Given the description of an element on the screen output the (x, y) to click on. 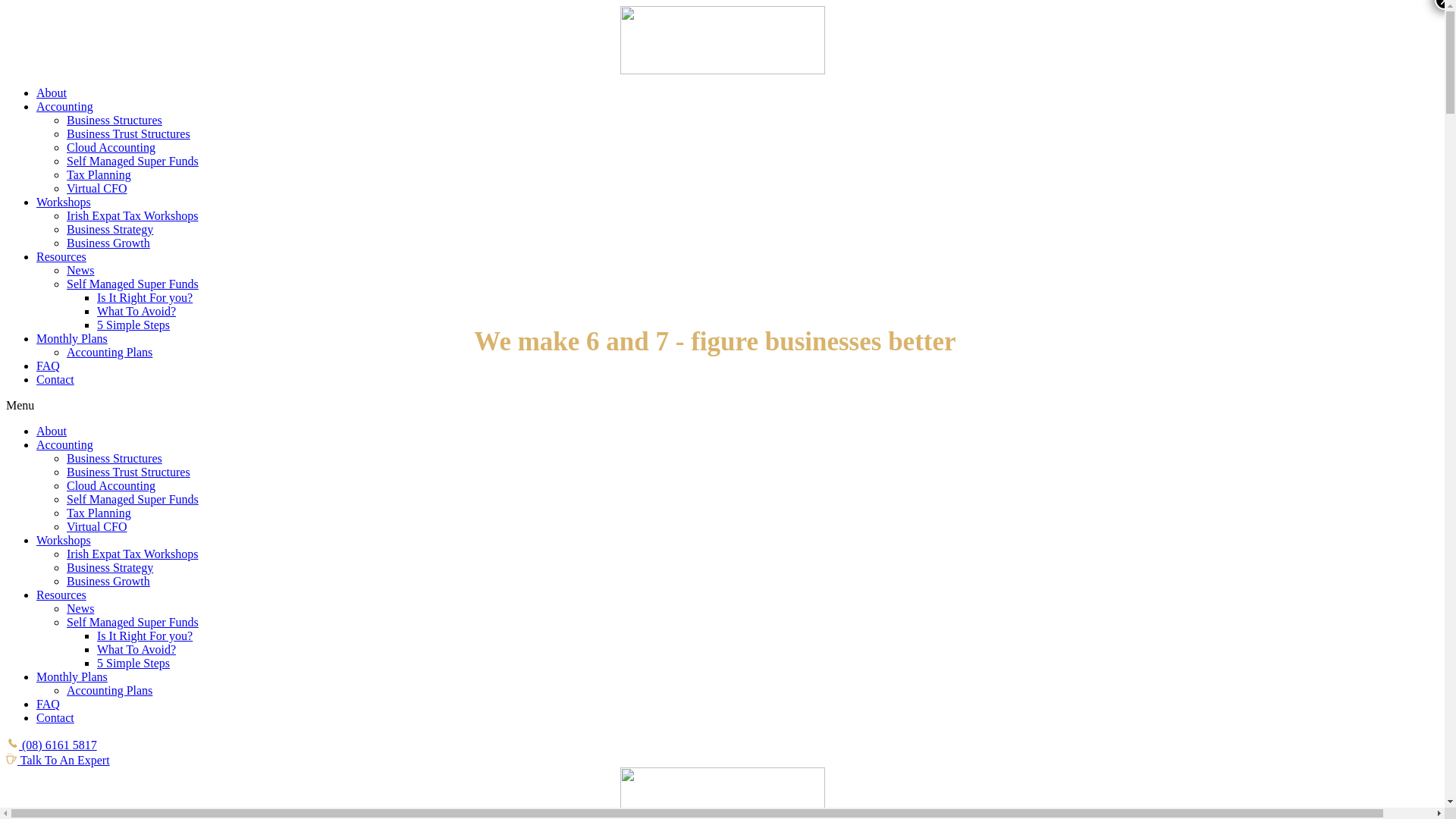
Business Trust Structures Element type: text (128, 471)
Contact Element type: text (55, 717)
Is It Right For you? Element type: text (144, 635)
Business Growth Element type: text (108, 242)
Business Growth Element type: text (108, 580)
What To Avoid? Element type: text (136, 310)
Self Managed Super Funds Element type: text (132, 160)
Monthly Plans Element type: text (71, 676)
Is It Right For you? Element type: text (144, 297)
Tax Planning Element type: text (98, 512)
Virtual CFO Element type: text (96, 526)
Workshops Element type: text (63, 201)
About Element type: text (51, 92)
Business Structures Element type: text (114, 119)
Accounting Plans Element type: text (109, 690)
Self Managed Super Funds Element type: text (132, 283)
Resources Element type: text (61, 256)
Irish Expat Tax Workshops Element type: text (131, 215)
News Element type: text (80, 269)
Self Managed Super Funds Element type: text (132, 498)
FAQ Element type: text (47, 703)
Cloud Accounting Element type: text (110, 147)
Virtual CFO Element type: text (96, 188)
Resources Element type: text (61, 594)
Workshops Element type: text (63, 539)
Accounting Element type: text (64, 106)
Talk To An Expert Element type: text (57, 759)
Tax Planning Element type: text (98, 174)
Business Strategy Element type: text (109, 228)
Monthly Plans Element type: text (71, 338)
Business Structures Element type: text (114, 457)
Irish Expat Tax Workshops Element type: text (131, 553)
Business Strategy Element type: text (109, 567)
Business Trust Structures Element type: text (128, 133)
5 Simple Steps Element type: text (133, 662)
News Element type: text (80, 608)
About Element type: text (51, 430)
Accounting Plans Element type: text (109, 351)
Contact Element type: text (55, 379)
Cloud Accounting Element type: text (110, 485)
(08) 6161 5817 Element type: text (51, 744)
What To Avoid? Element type: text (136, 649)
Accounting Element type: text (64, 444)
FAQ Element type: text (47, 365)
5 Simple Steps Element type: text (133, 324)
Self Managed Super Funds Element type: text (132, 621)
